Given the description of an element on the screen output the (x, y) to click on. 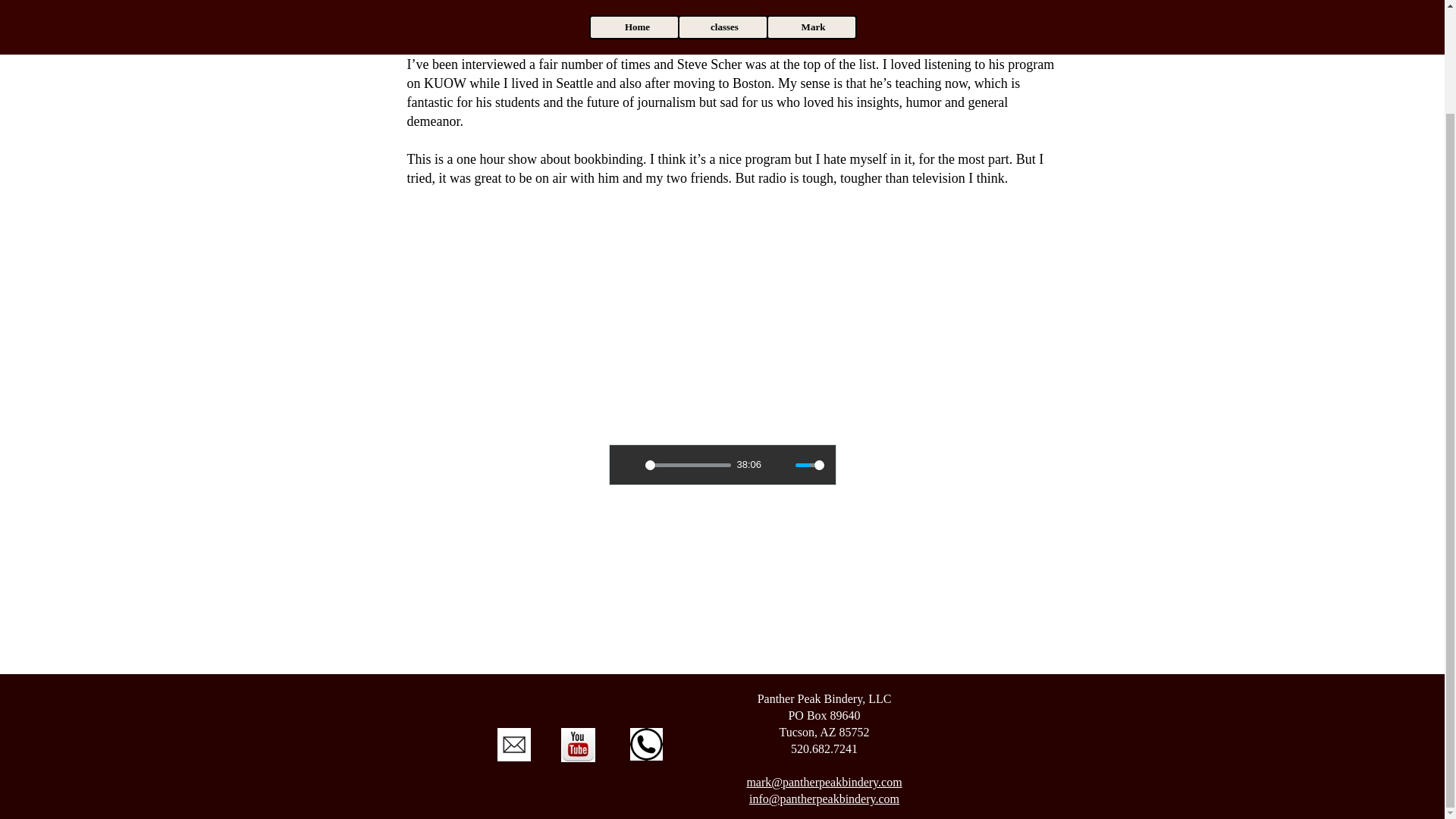
, LLC (876, 577)
PO Box 89640 (823, 594)
520.682.7241 (823, 627)
Play (629, 464)
Tucson, AZ 85752 (823, 611)
0 (687, 464)
Mute (779, 464)
1 (809, 464)
Panther Peak Bindery (809, 577)
